Given the description of an element on the screen output the (x, y) to click on. 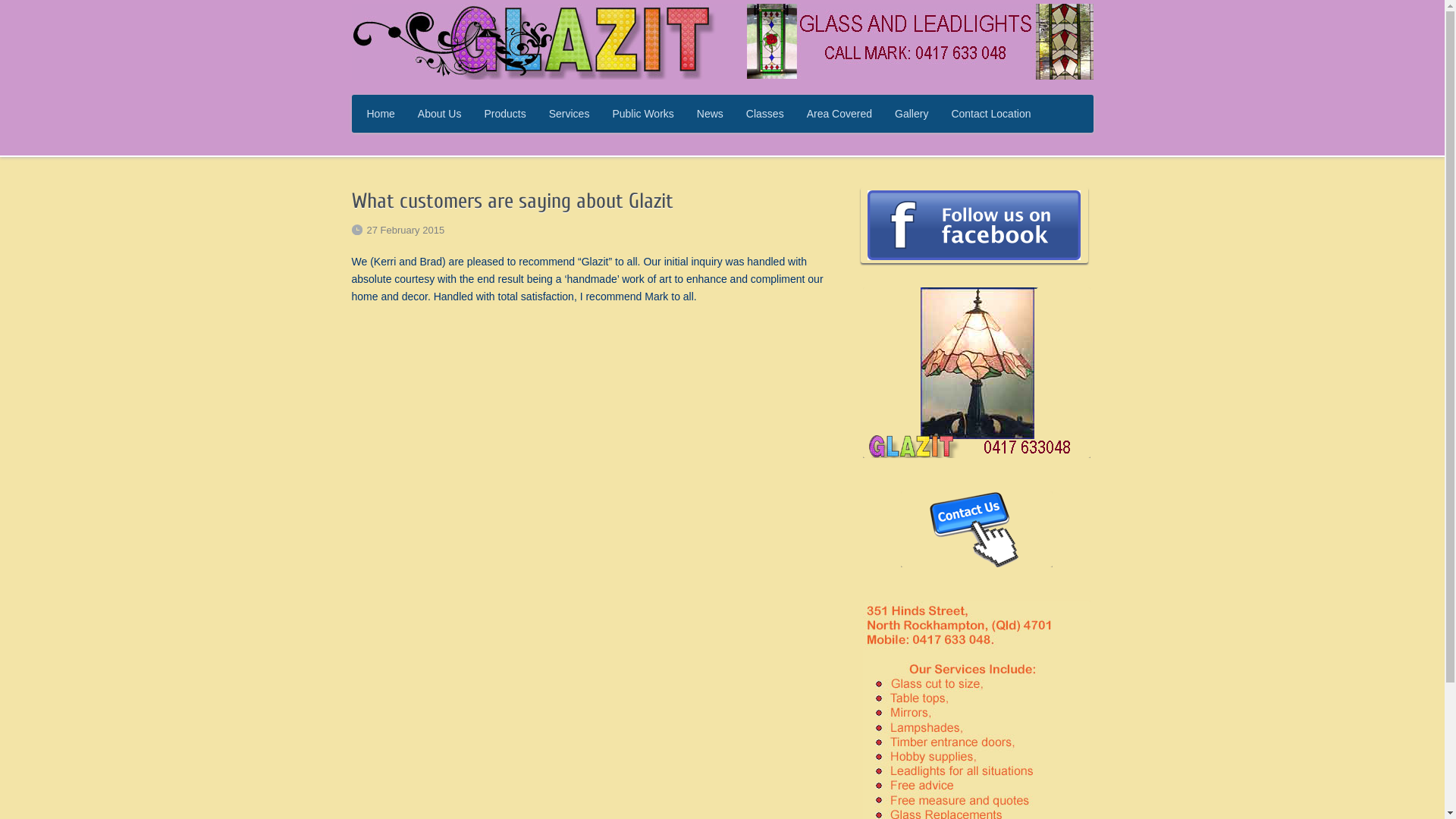
Products Element type: text (504, 113)
Skip to primary content Element type: text (367, 97)
Contact Location Element type: text (990, 113)
News Element type: text (710, 113)
What customers are saying about Glazit Element type: text (512, 200)
Classes Element type: text (764, 113)
Area Covered Element type: text (839, 113)
Gallery Element type: text (911, 113)
Home Element type: text (380, 113)
Services Element type: text (569, 113)
Public Works Element type: text (642, 113)
About Us Element type: text (439, 113)
contact-1.png Element type: hover (976, 529)
Zoom in Element type: hover (976, 372)
